Given the description of an element on the screen output the (x, y) to click on. 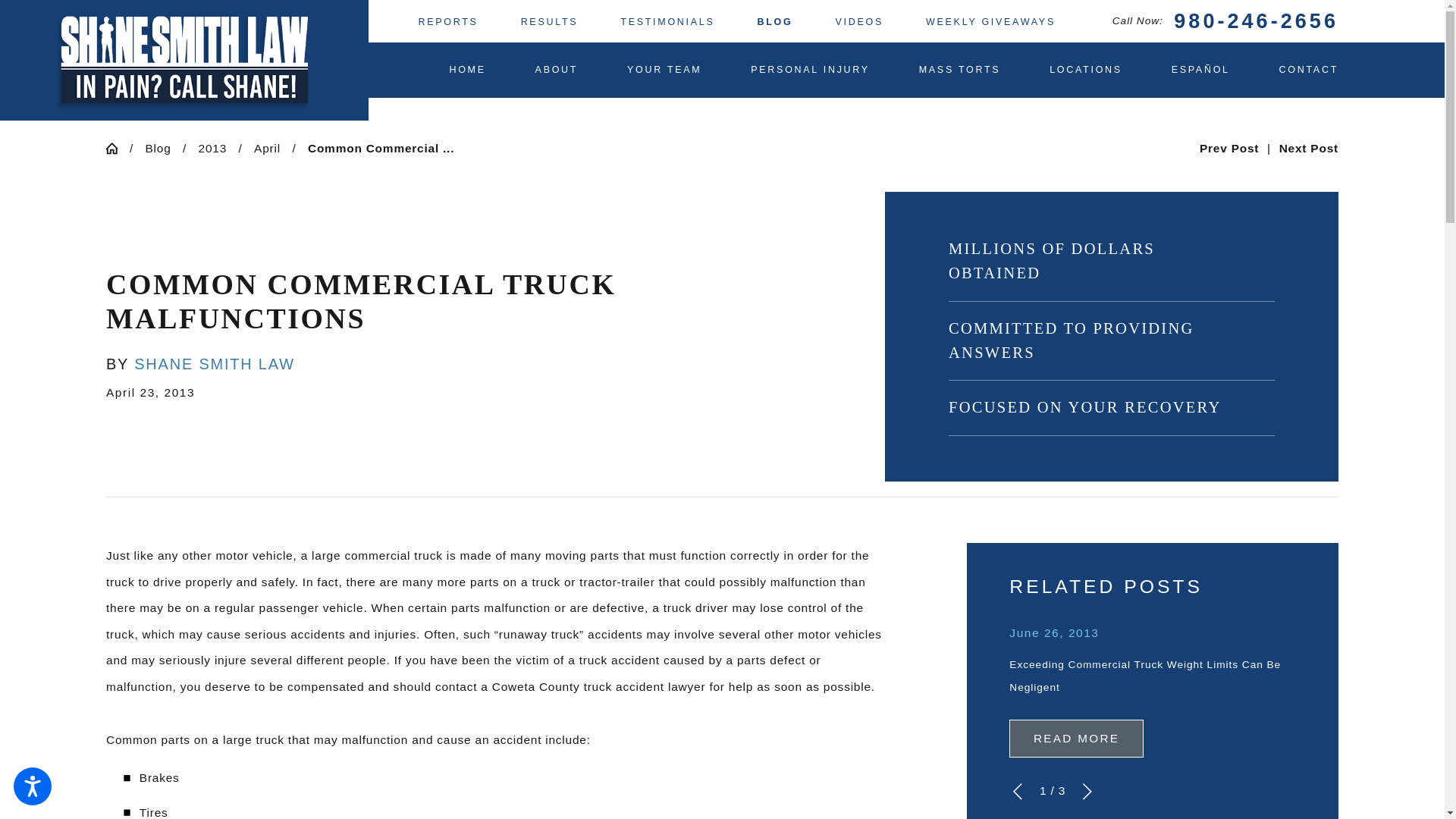
Open the accessibility options menu (31, 786)
ABOUT (556, 69)
TESTIMONIALS (667, 21)
RESULTS (549, 21)
Shane Smith Law (184, 59)
View previous item (1017, 791)
BLOG (775, 21)
WEEKLY GIVEAWAYS (990, 21)
REPORTS (447, 21)
View next item (1087, 791)
